Given the description of an element on the screen output the (x, y) to click on. 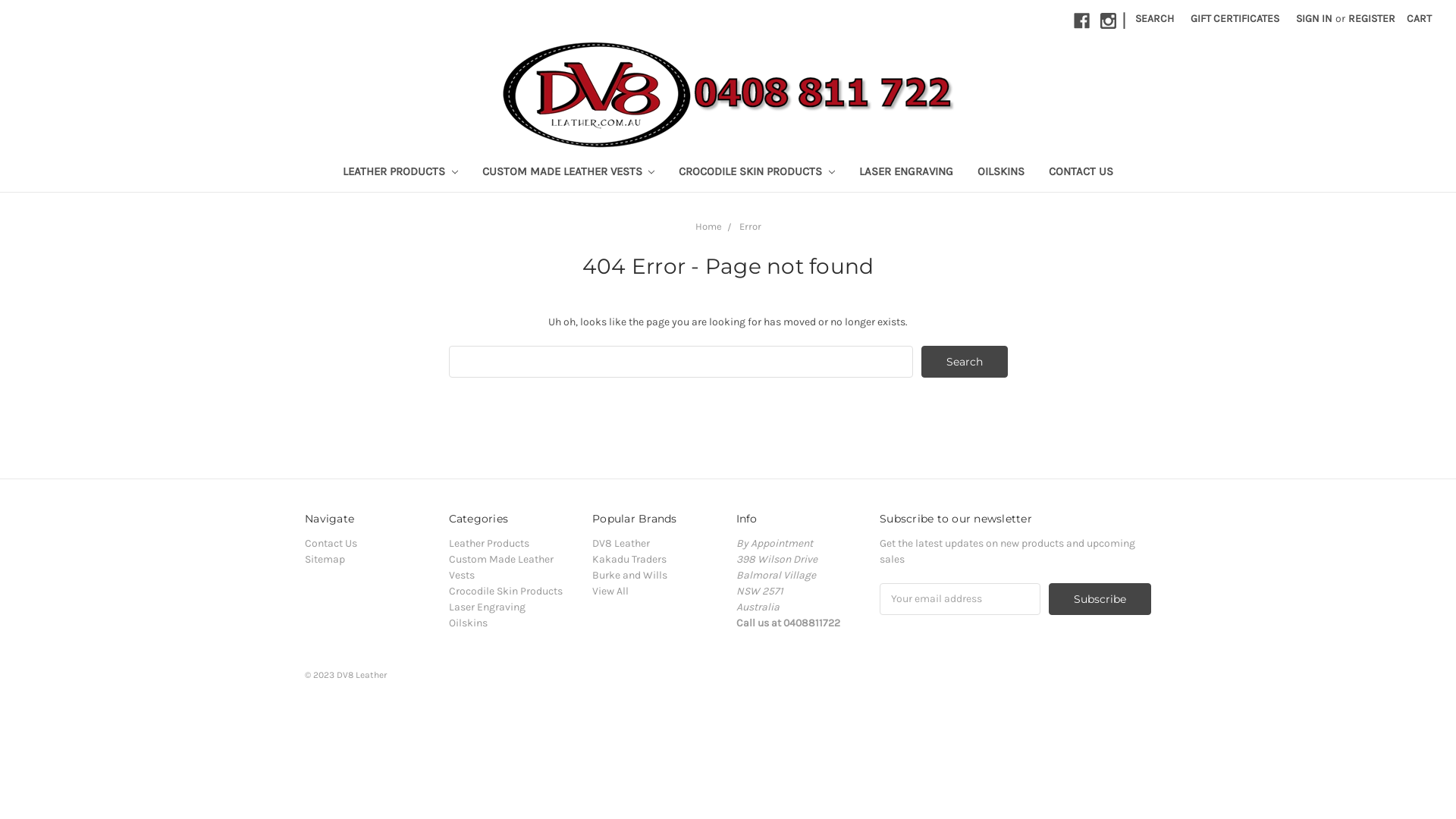
Contact Us Element type: text (330, 542)
Laser Engraving Element type: text (486, 606)
CUSTOM MADE LEATHER VESTS Element type: text (568, 172)
Burke and Wills Element type: text (629, 574)
CART Element type: text (1419, 18)
GIFT CERTIFICATES Element type: text (1234, 18)
Subscribe Element type: text (1099, 599)
CONTACT US Element type: text (1080, 172)
Search Element type: text (964, 361)
LEATHER PRODUCTS Element type: text (400, 172)
LASER ENGRAVING Element type: text (906, 172)
Sitemap Element type: text (324, 558)
Home Element type: text (707, 226)
REGISTER Element type: text (1371, 18)
Error Element type: text (749, 226)
CROCODILE SKIN PRODUCTS Element type: text (756, 172)
Kakadu Traders Element type: text (629, 558)
Crocodile Skin Products Element type: text (505, 590)
Leather Products Element type: text (488, 542)
OILSKINS Element type: text (1000, 172)
SIGN IN Element type: text (1313, 18)
SEARCH Element type: text (1154, 18)
DV8 Leather Element type: hover (727, 94)
DV8 Leather Element type: text (620, 542)
View All Element type: text (610, 590)
Oilskins Element type: text (467, 622)
Custom Made Leather Vests Element type: text (500, 566)
